Given the description of an element on the screen output the (x, y) to click on. 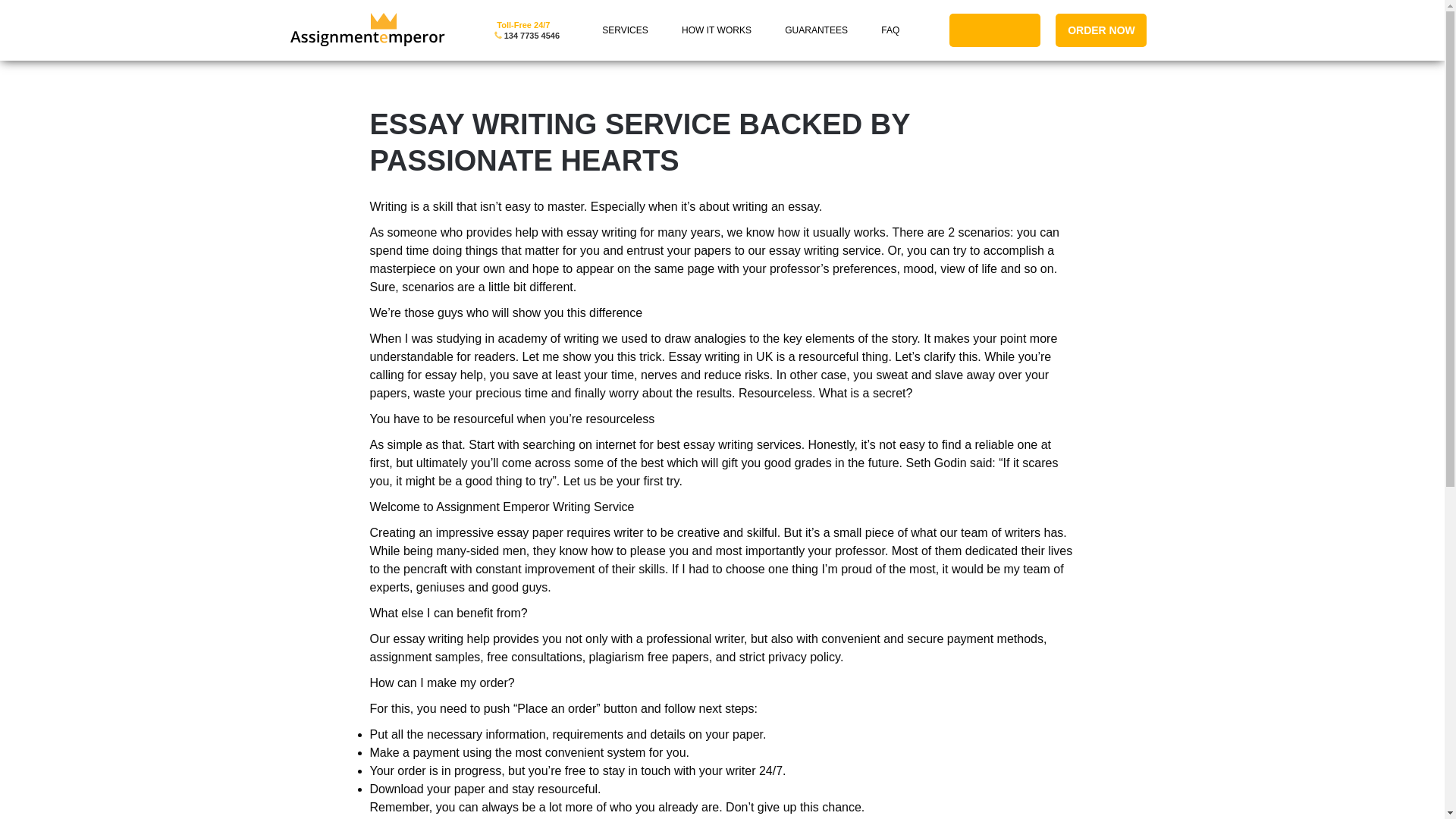
ORDER NOW (1101, 29)
134 7735 4546 (531, 35)
GUARANTEES (815, 30)
SERVICES (624, 30)
FAQ (889, 30)
HOW IT WORKS (716, 30)
